Given the description of an element on the screen output the (x, y) to click on. 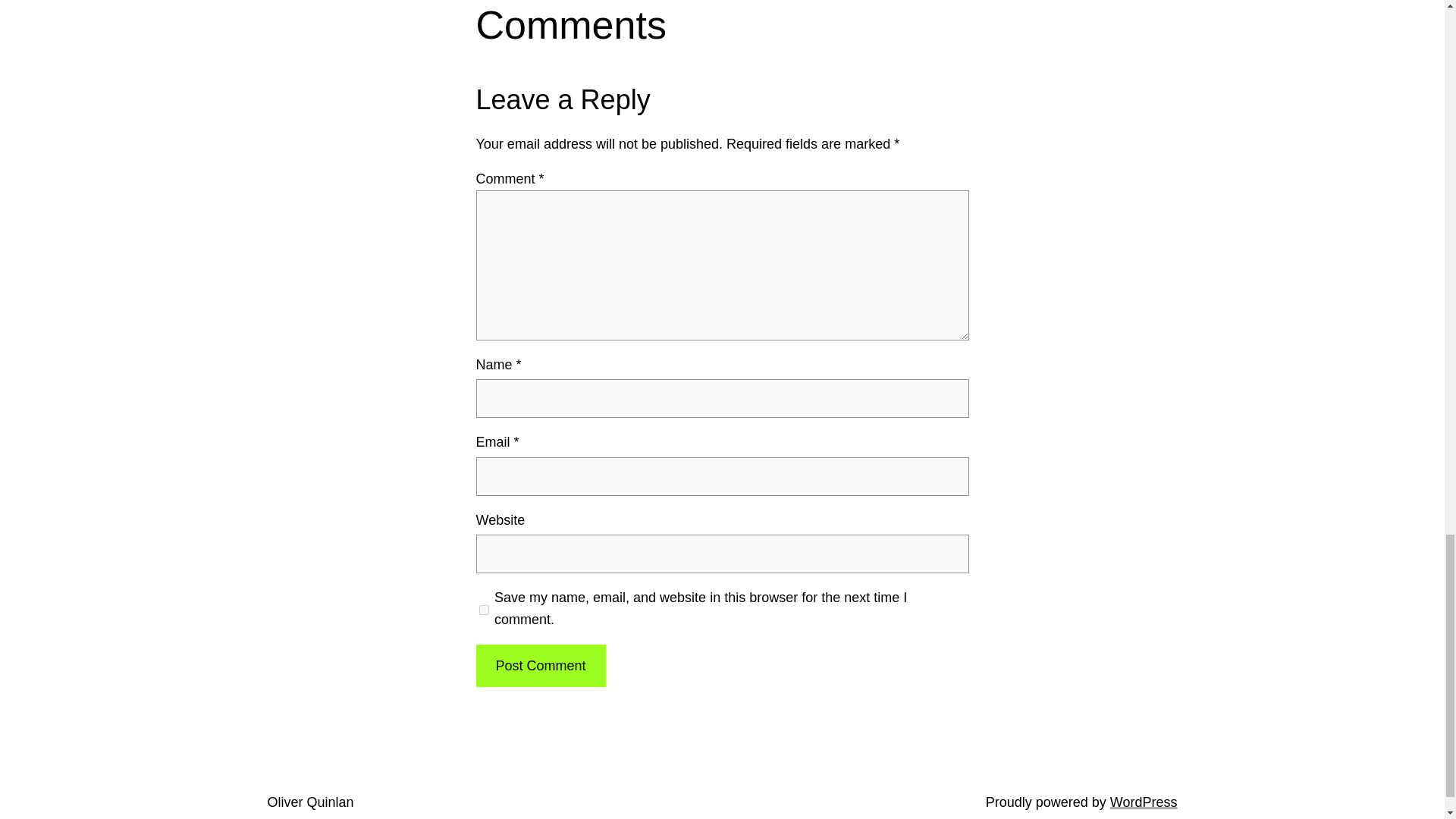
Post Comment (540, 665)
WordPress (1143, 801)
Oliver Quinlan (309, 801)
Post Comment (540, 665)
